Given the description of an element on the screen output the (x, y) to click on. 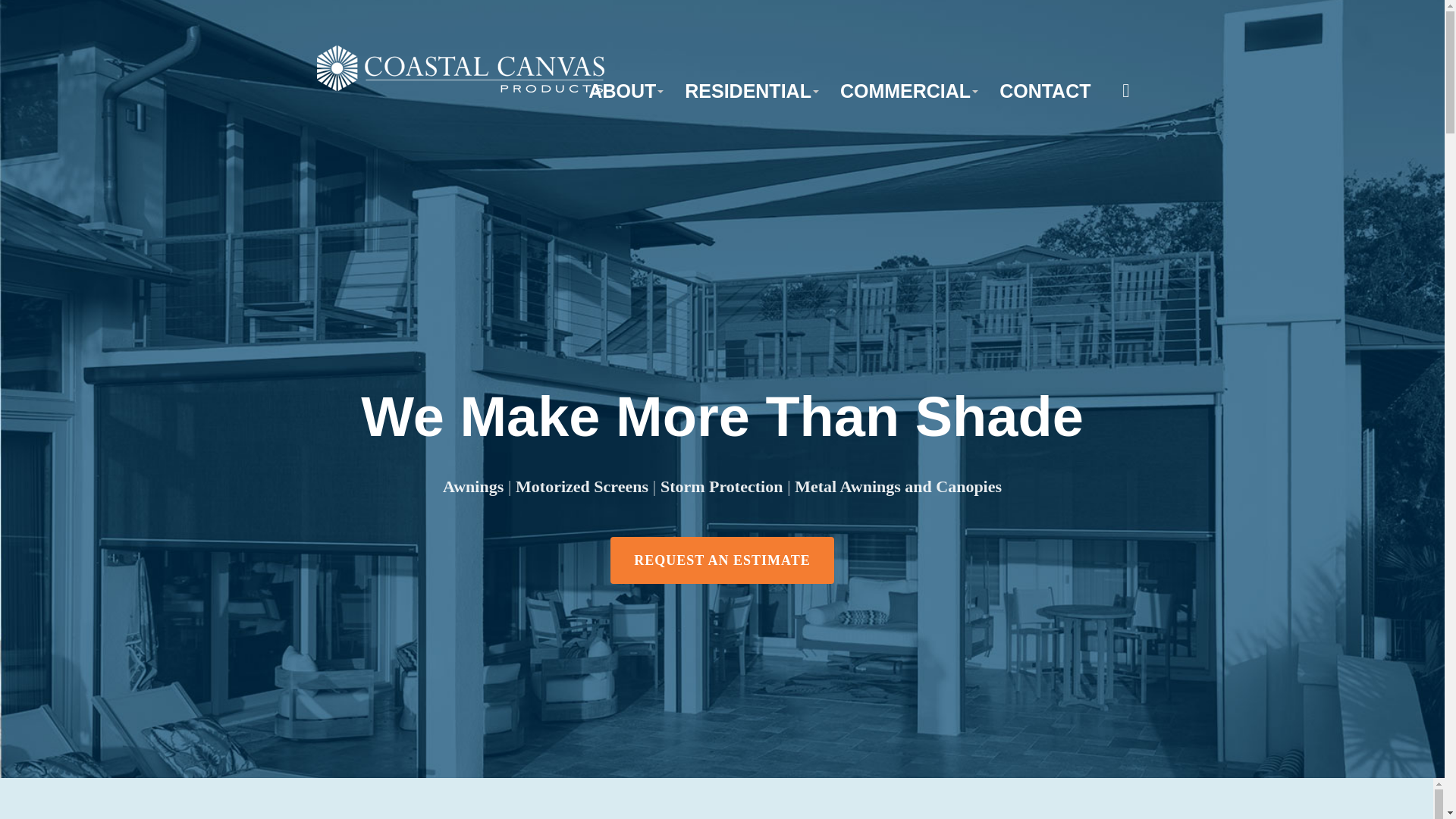
REQUEST AN ESTIMATE (721, 560)
